Given the description of an element on the screen output the (x, y) to click on. 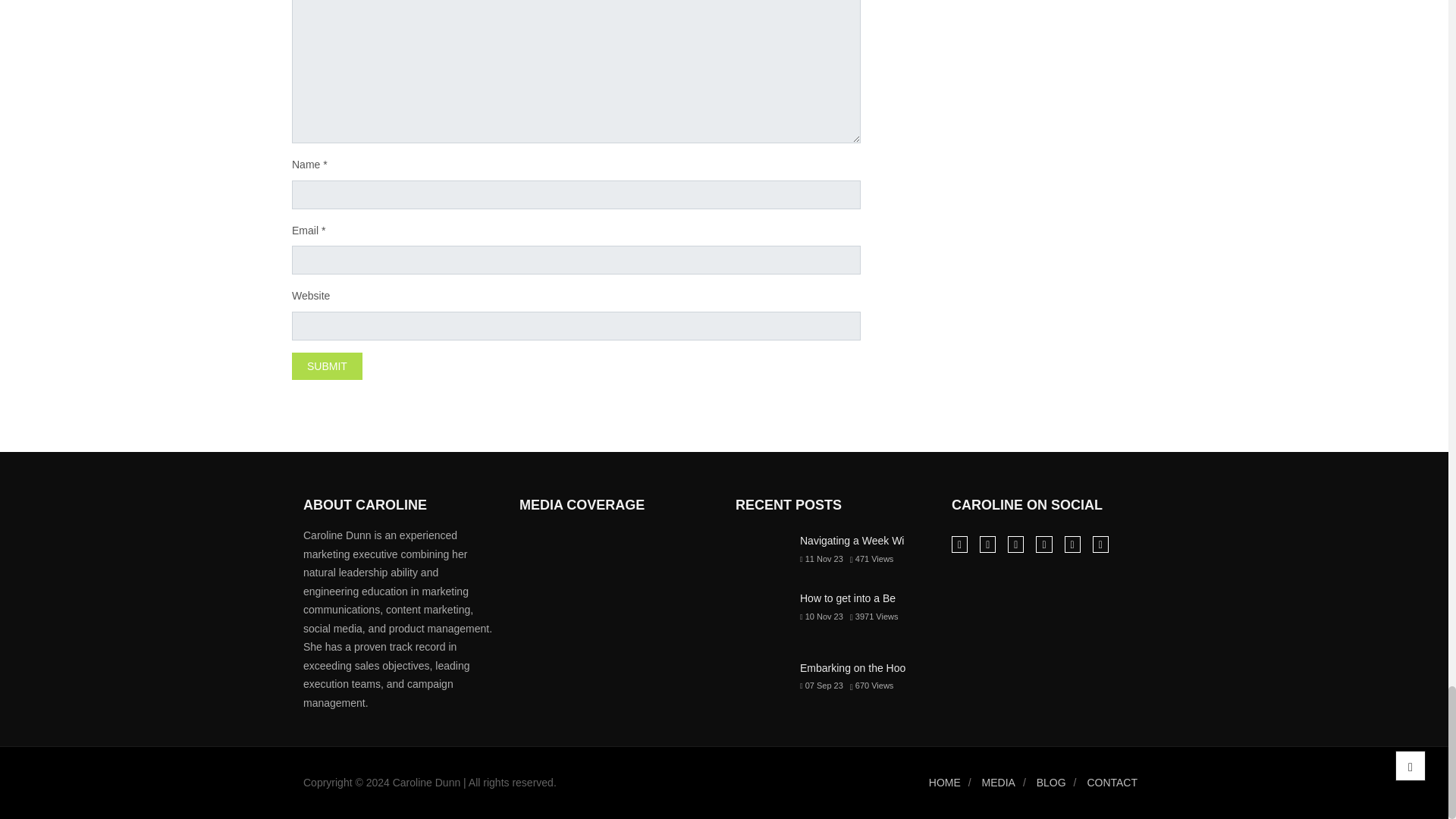
Submit (327, 366)
Where Their Confidence Comes From (615, 549)
Shoutout Atlanta Feature (550, 549)
3 Time Featured Guest on the Pi Cast Show (680, 549)
